Given the description of an element on the screen output the (x, y) to click on. 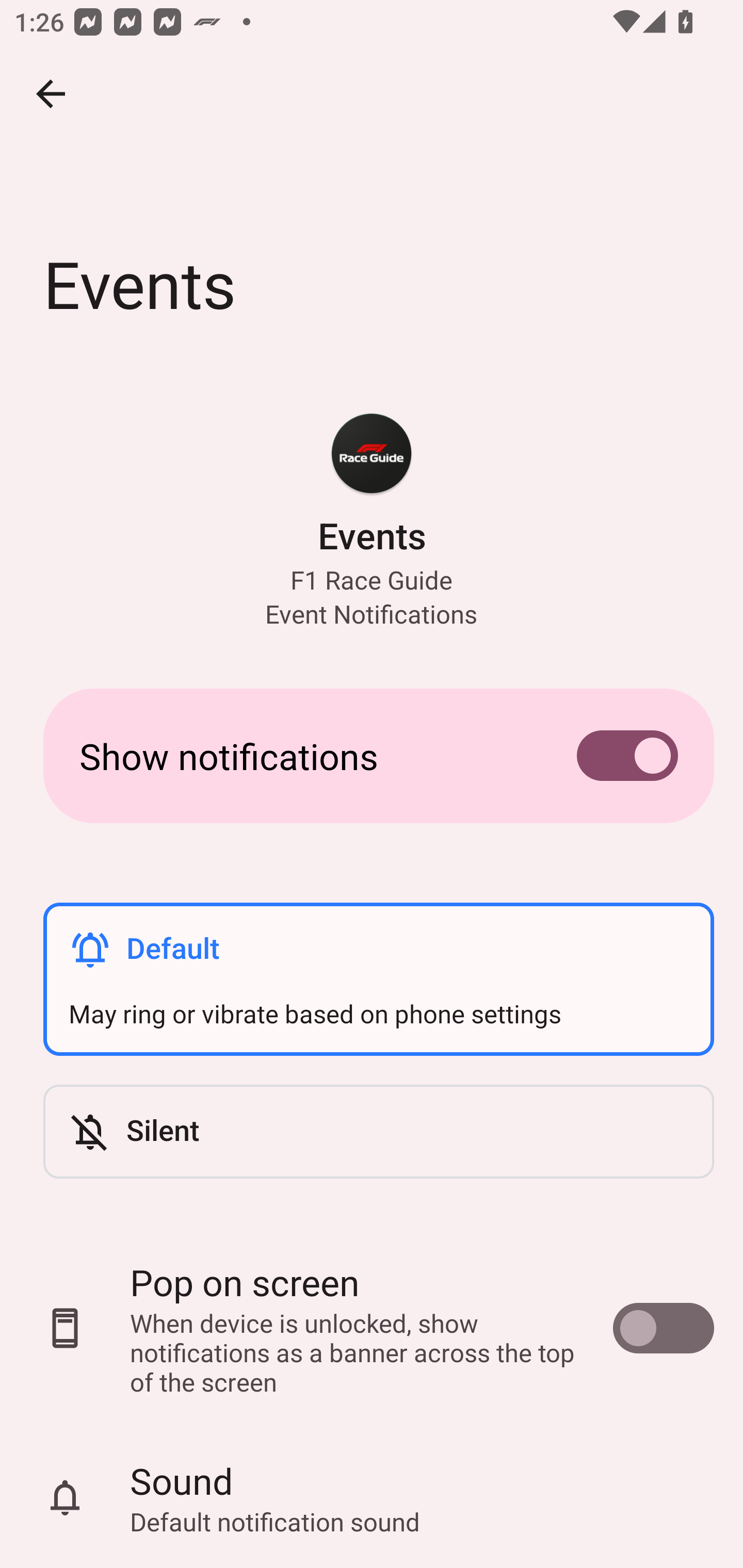
Navigate up (50, 93)
Events F1 Race Guide Event Notifications (371, 520)
Show notifications (371, 755)
Silent (378, 1132)
Sound Default notification sound (371, 1498)
